Given the description of an element on the screen output the (x, y) to click on. 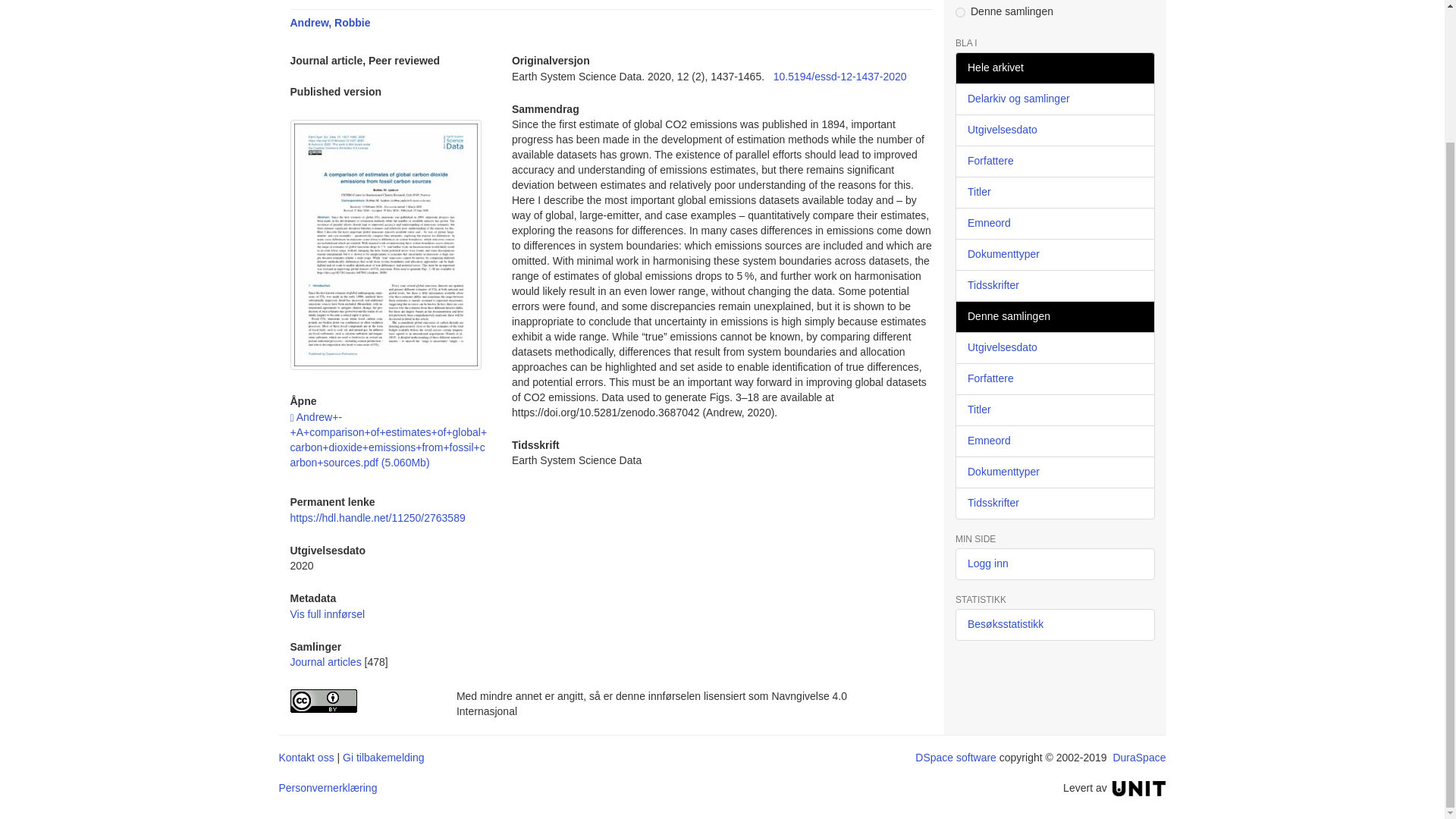
Emneord (1054, 223)
Navngivelse 4.0 Internasjonal (360, 700)
Andrew, Robbie (329, 22)
Delarkiv og samlinger (1054, 99)
Titler (1054, 192)
Hele arkivet (1054, 68)
Unit (1139, 787)
Forfattere (1054, 161)
Journal articles (325, 662)
Utgivelsesdato (1054, 130)
